Given the description of an element on the screen output the (x, y) to click on. 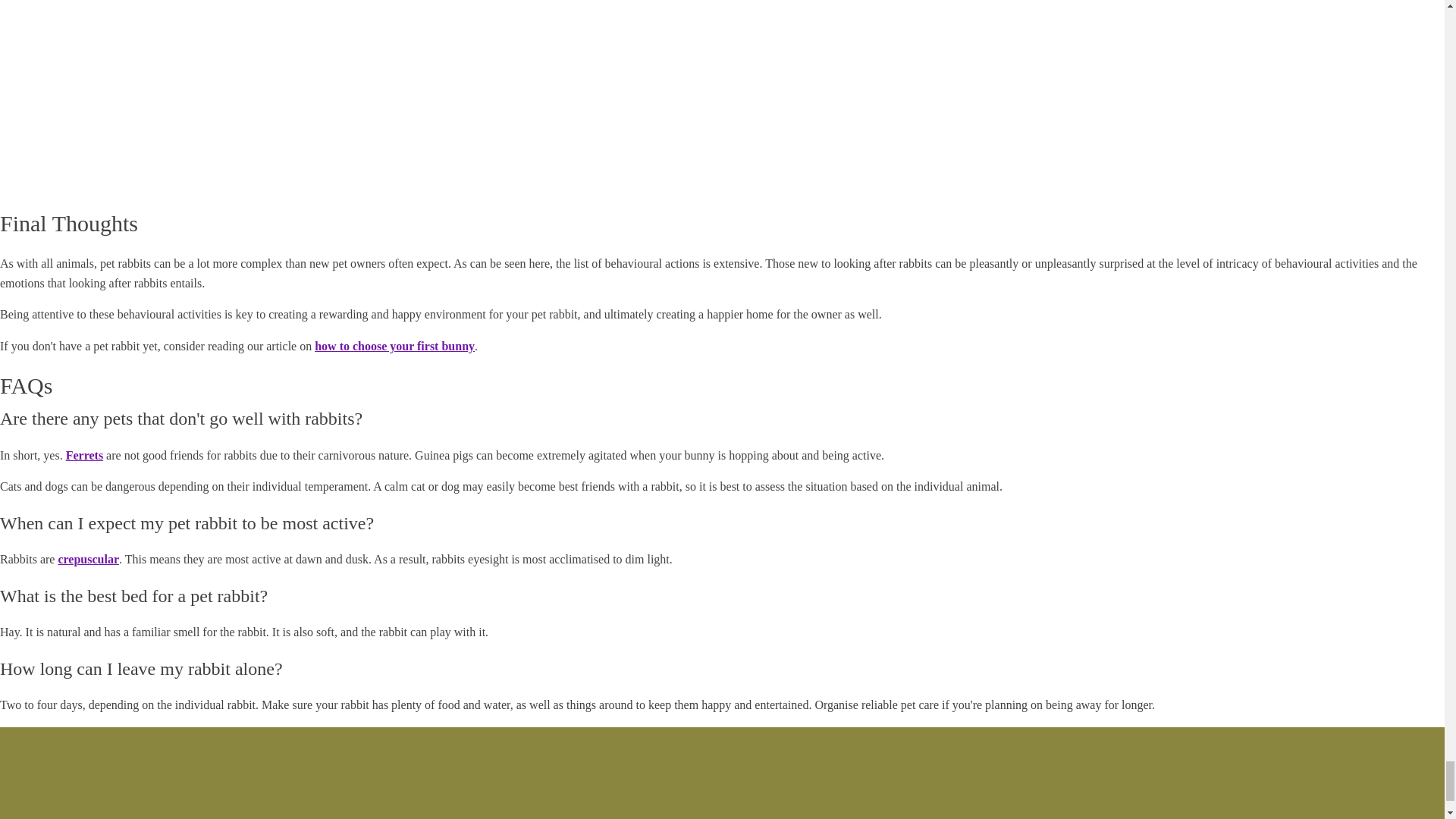
crepuscular (88, 558)
Bunny happy noises - honking and clucking (189, 93)
Ferrets (84, 454)
how to choose your first bunny (394, 345)
